Given the description of an element on the screen output the (x, y) to click on. 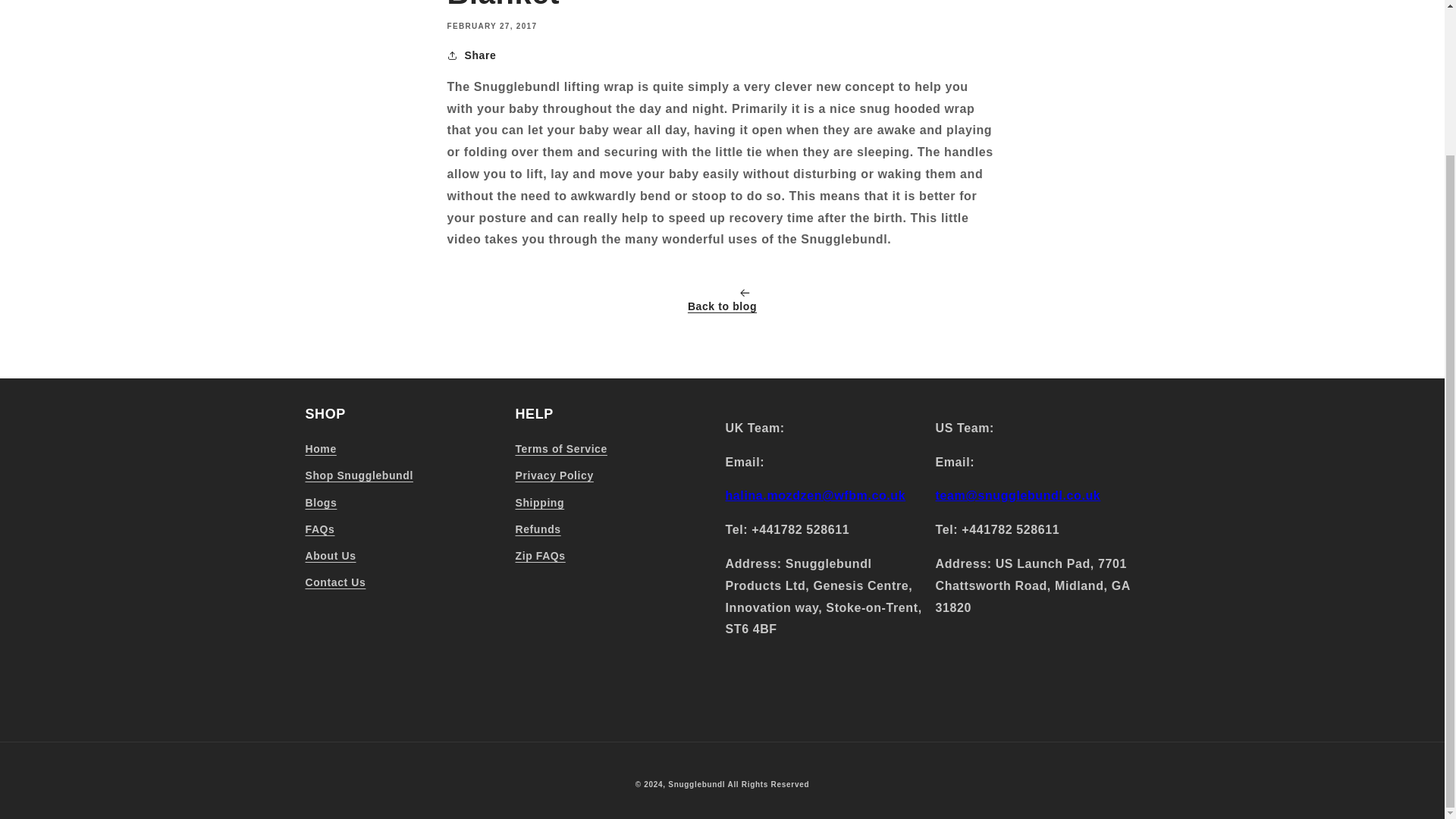
Contact Us (334, 582)
FAQs (319, 529)
Zip FAQs (540, 555)
Blogs (320, 502)
Refunds (537, 529)
Terms of Service (561, 450)
Shipping (539, 502)
Privacy Policy (554, 475)
Back to blog (722, 302)
Shop Snugglebundl (358, 475)
